Given the description of an element on the screen output the (x, y) to click on. 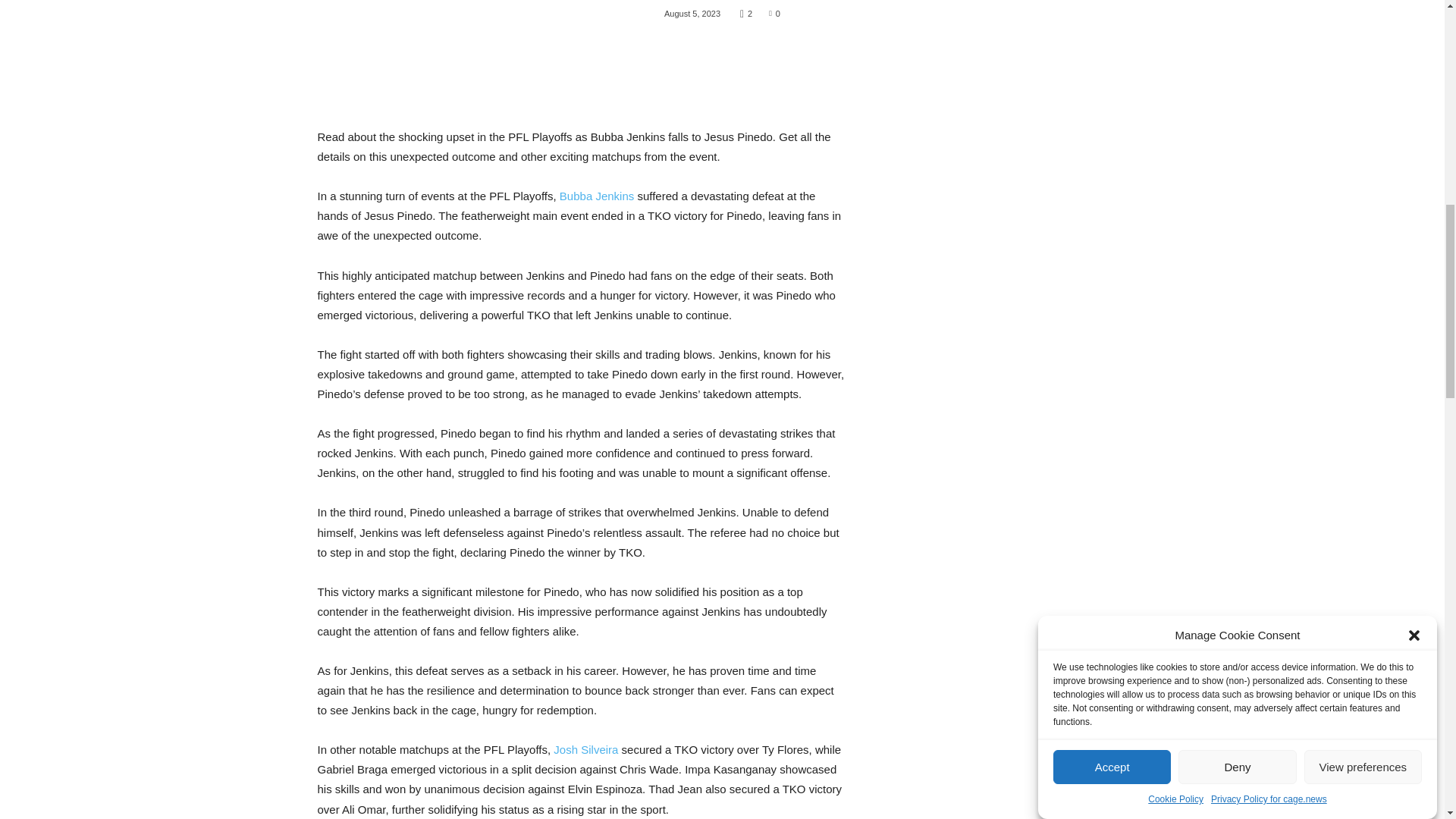
View preferences (1363, 13)
Deny (1236, 35)
Accept (1111, 77)
Cookie Policy (1176, 0)
